Given the description of an element on the screen output the (x, y) to click on. 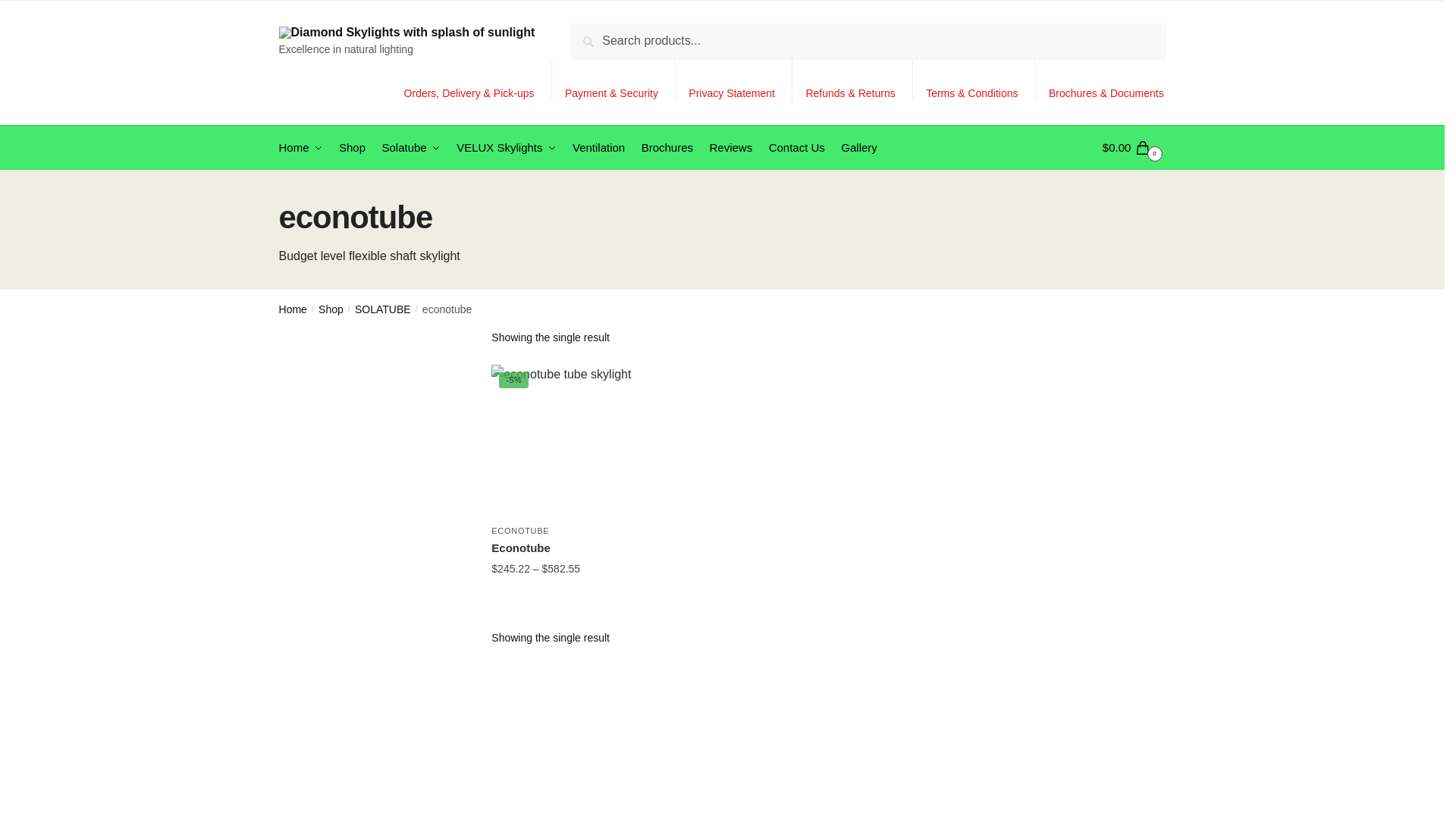
Privacy Statement Element type: text (731, 80)
Solatube Element type: text (410, 147)
Shop Element type: text (352, 147)
ECONOTUBE Element type: text (520, 530)
Refunds & Returns Element type: text (850, 80)
Home Element type: text (304, 147)
Gallery Element type: text (858, 147)
Brochures Element type: text (666, 147)
Shop Element type: text (330, 309)
Payment & Security Element type: text (611, 80)
VELUX Skylights Element type: text (506, 147)
Contact Us Element type: text (796, 147)
$0.00 0 Element type: text (1134, 147)
Ventilation Element type: text (598, 147)
Econotube Element type: text (567, 548)
Orders, Delivery & Pick-ups Element type: text (468, 80)
Brochures & Documents Element type: text (1106, 80)
Search Element type: text (594, 33)
Home Element type: text (293, 309)
-5% Element type: text (567, 440)
Reviews Element type: text (730, 147)
SOLATUBE Element type: text (382, 309)
Terms & Conditions Element type: text (971, 80)
